Given the description of an element on the screen output the (x, y) to click on. 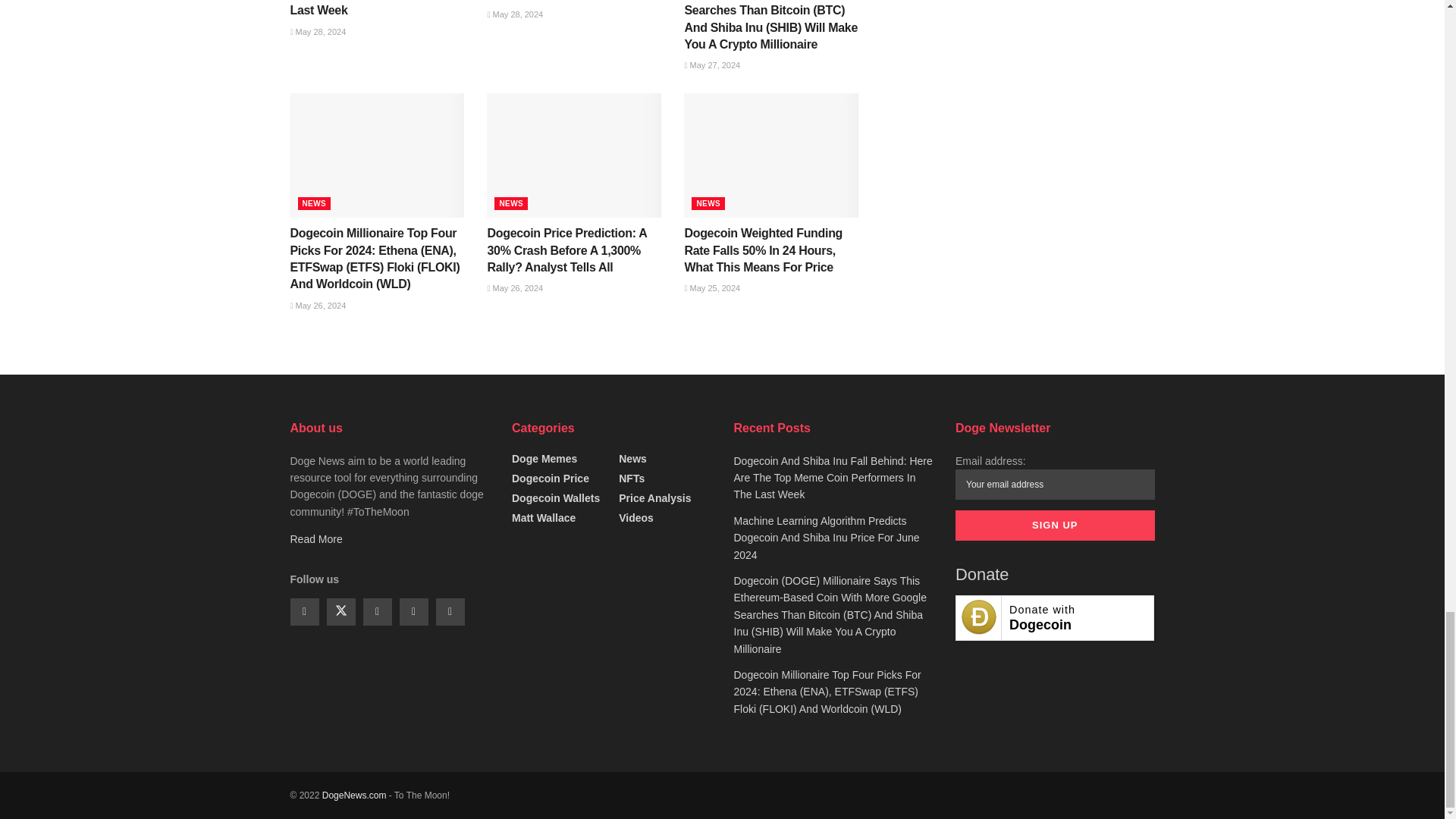
Sign up (1054, 525)
To The Moon! (354, 795)
